Given the description of an element on the screen output the (x, y) to click on. 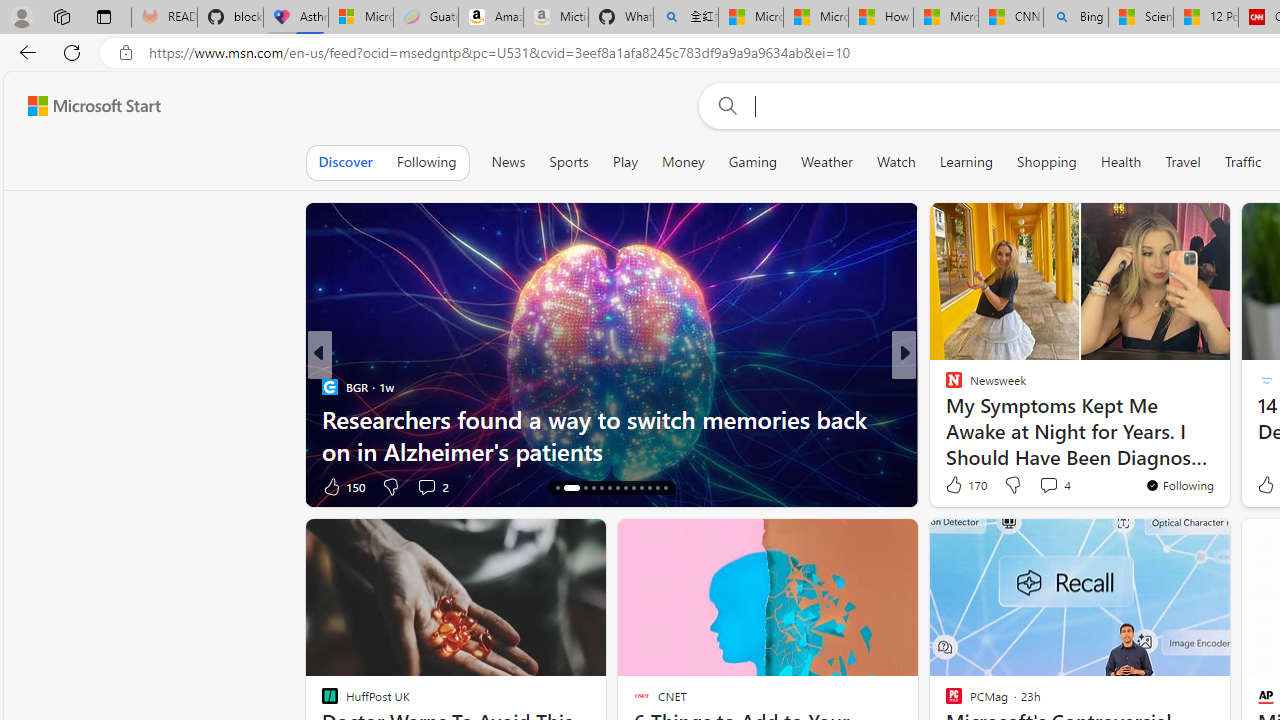
AutomationID: tab-16 (579, 487)
AutomationID: tab-25 (656, 487)
720 Like (959, 486)
Simply More Time (329, 386)
Kinda Frugal (944, 418)
AutomationID: tab-24 (649, 487)
Newsweek (944, 386)
